Given the description of an element on the screen output the (x, y) to click on. 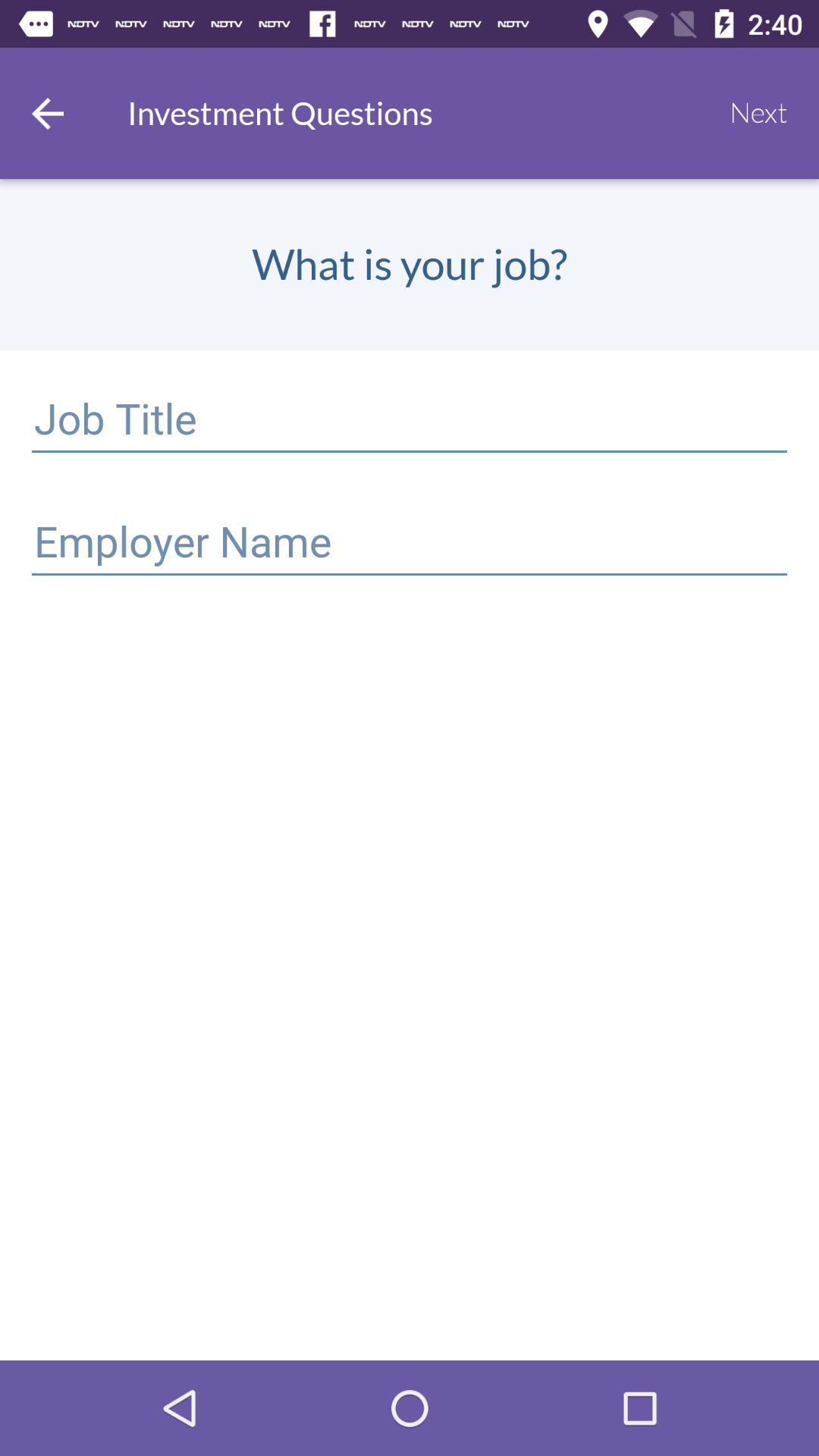
tap icon to the left of investment questions (47, 113)
